Given the description of an element on the screen output the (x, y) to click on. 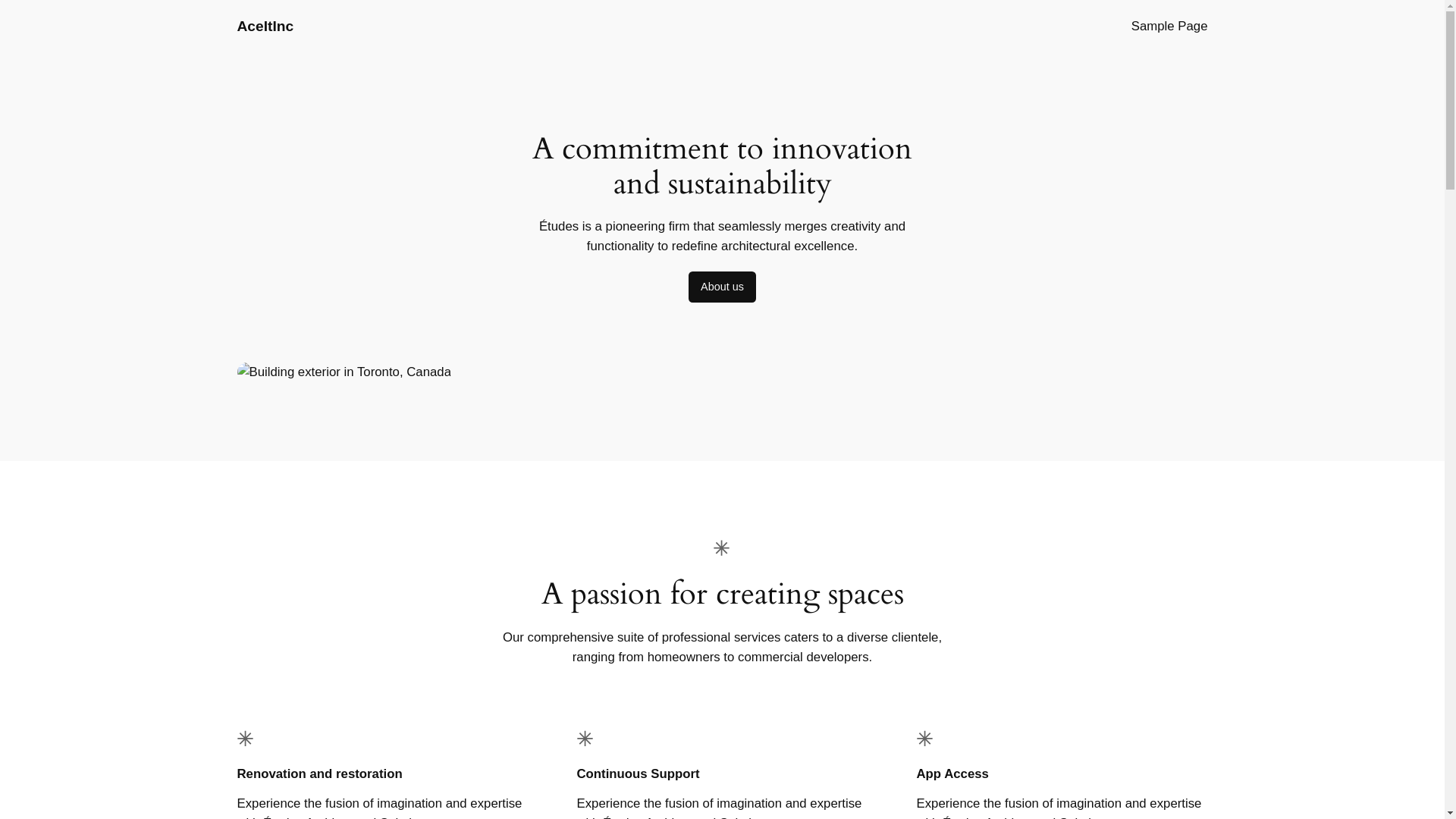
Sample Page Element type: text (1169, 26)
About us Element type: text (722, 287)
AceItInc Element type: text (264, 26)
